Given the description of an element on the screen output the (x, y) to click on. 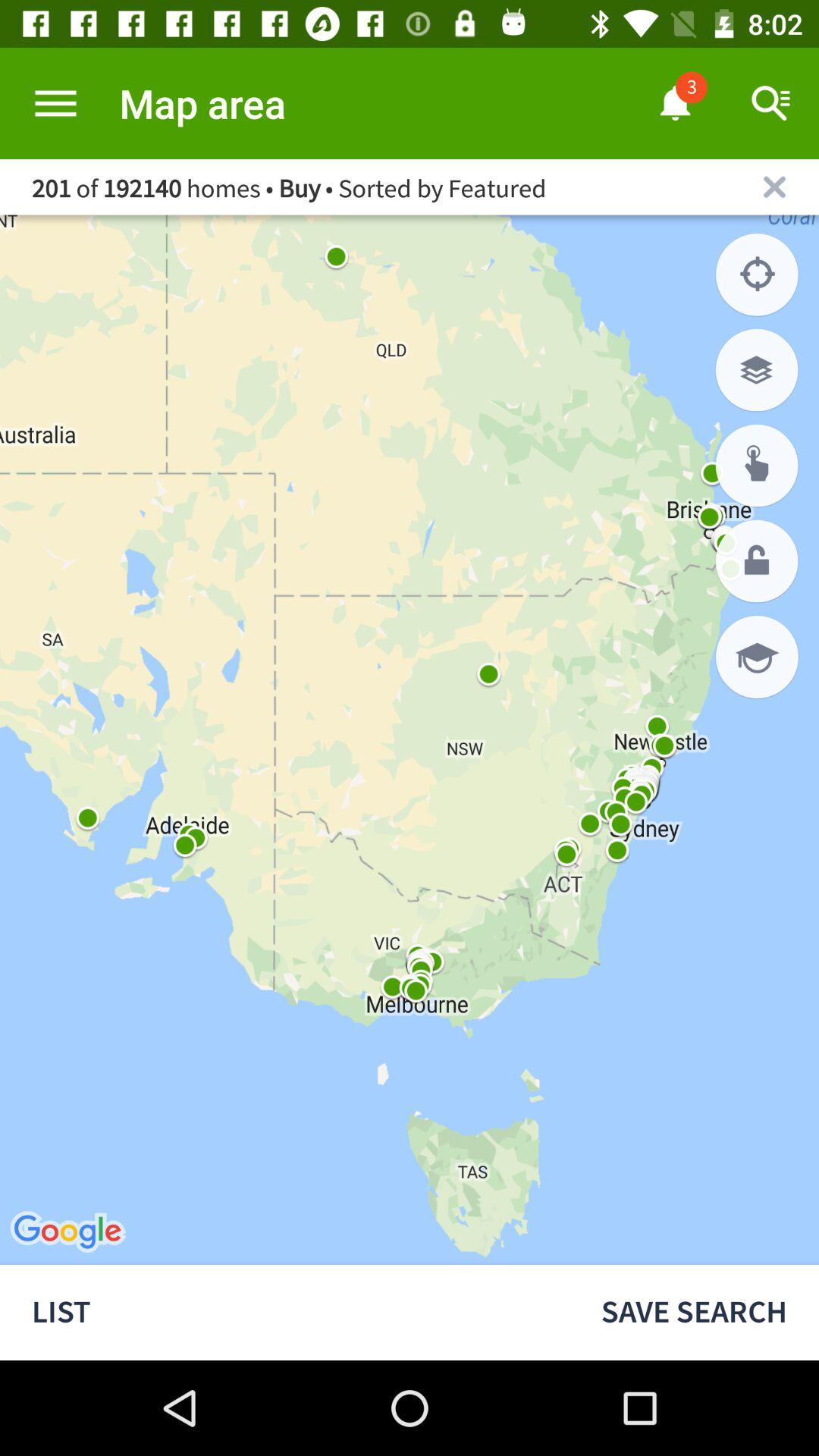
close the current map area (774, 186)
